Given the description of an element on the screen output the (x, y) to click on. 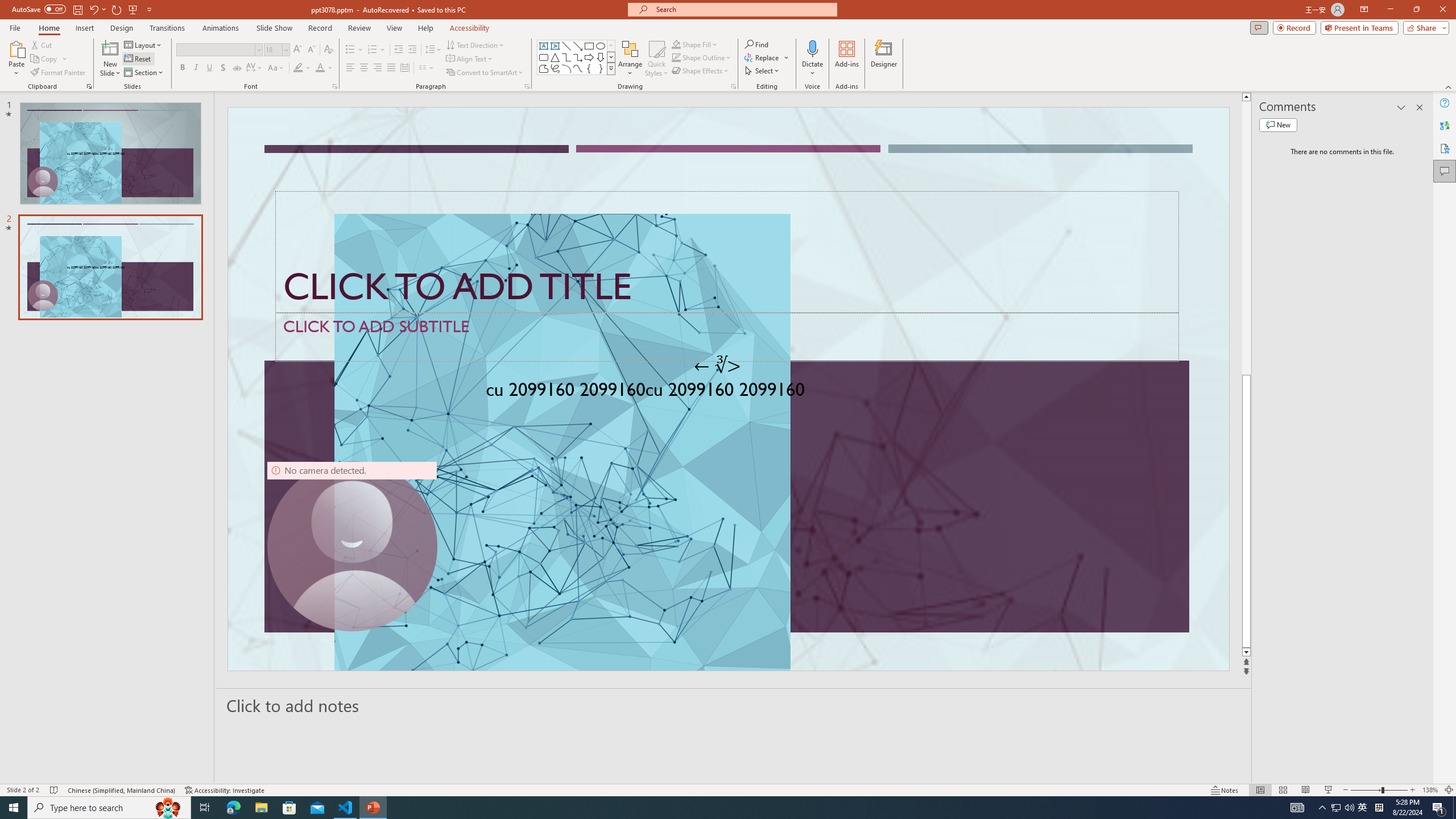
New comment (1278, 124)
